Given the description of an element on the screen output the (x, y) to click on. 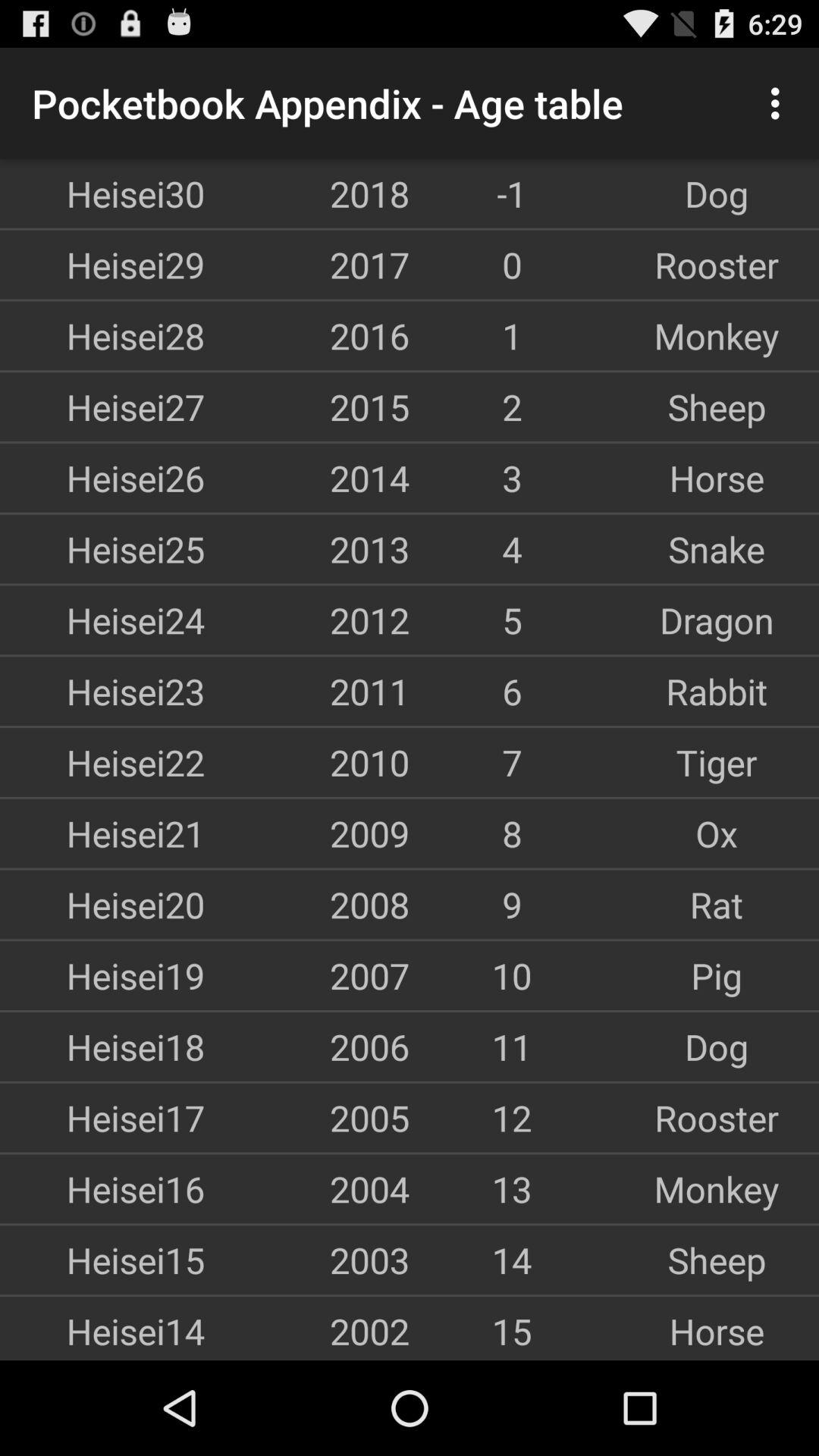
launch the item next to rooster icon (511, 1117)
